Given the description of an element on the screen output the (x, y) to click on. 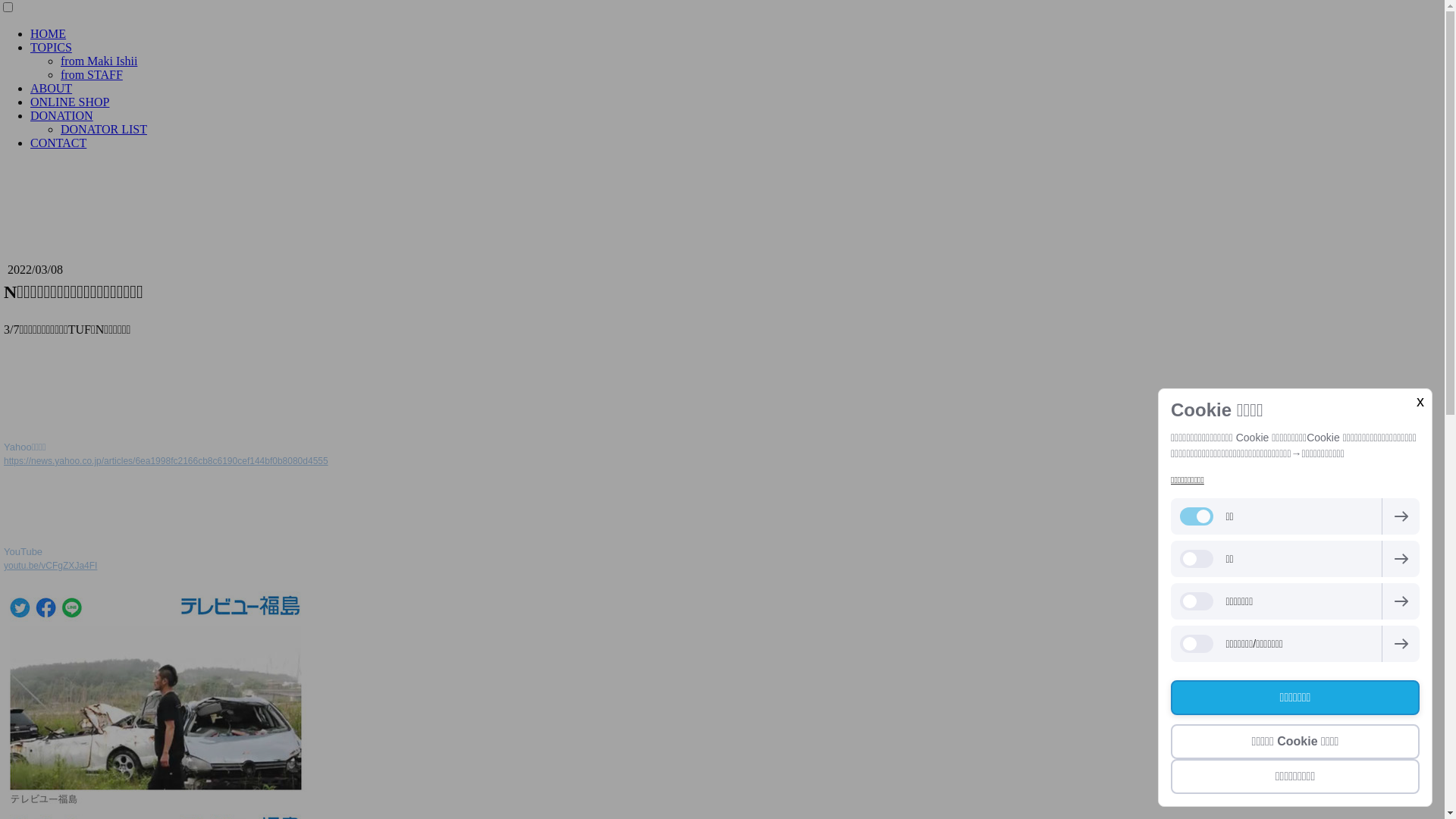
youtu.be/vCFgZXJa4FI Element type: text (50, 565)
ABOUT Element type: text (51, 87)
ONLINE SHOP Element type: text (69, 101)
DONATOR LIST Element type: text (103, 128)
TOPICS Element type: text (51, 46)
DONATION Element type: text (61, 115)
CONTACT Element type: text (58, 142)
HOME Element type: text (47, 33)
from Maki Ishii Element type: text (98, 60)
from STAFF Element type: text (91, 74)
